Given the description of an element on the screen output the (x, y) to click on. 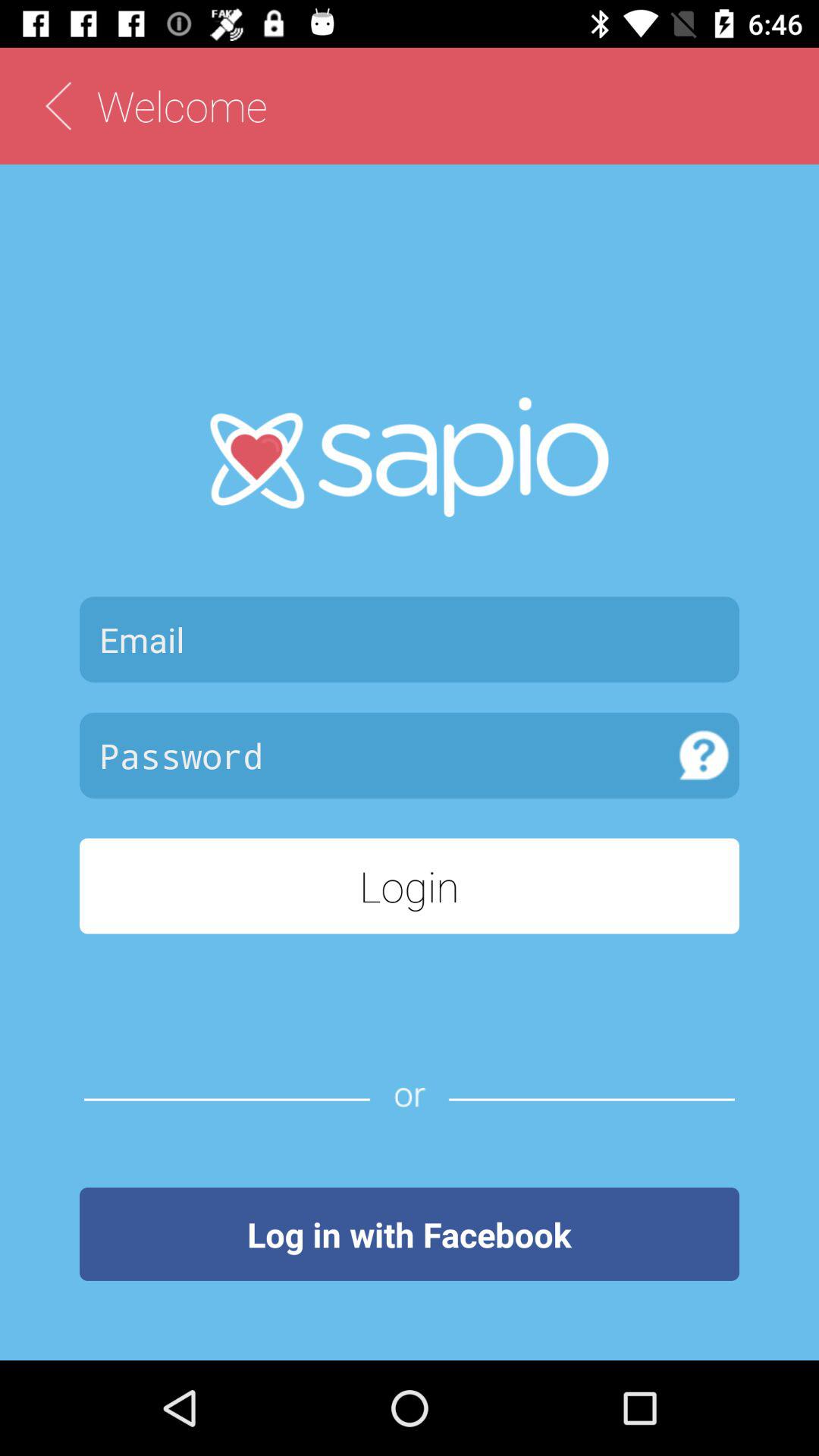
turn on icon on the right (703, 755)
